Given the description of an element on the screen output the (x, y) to click on. 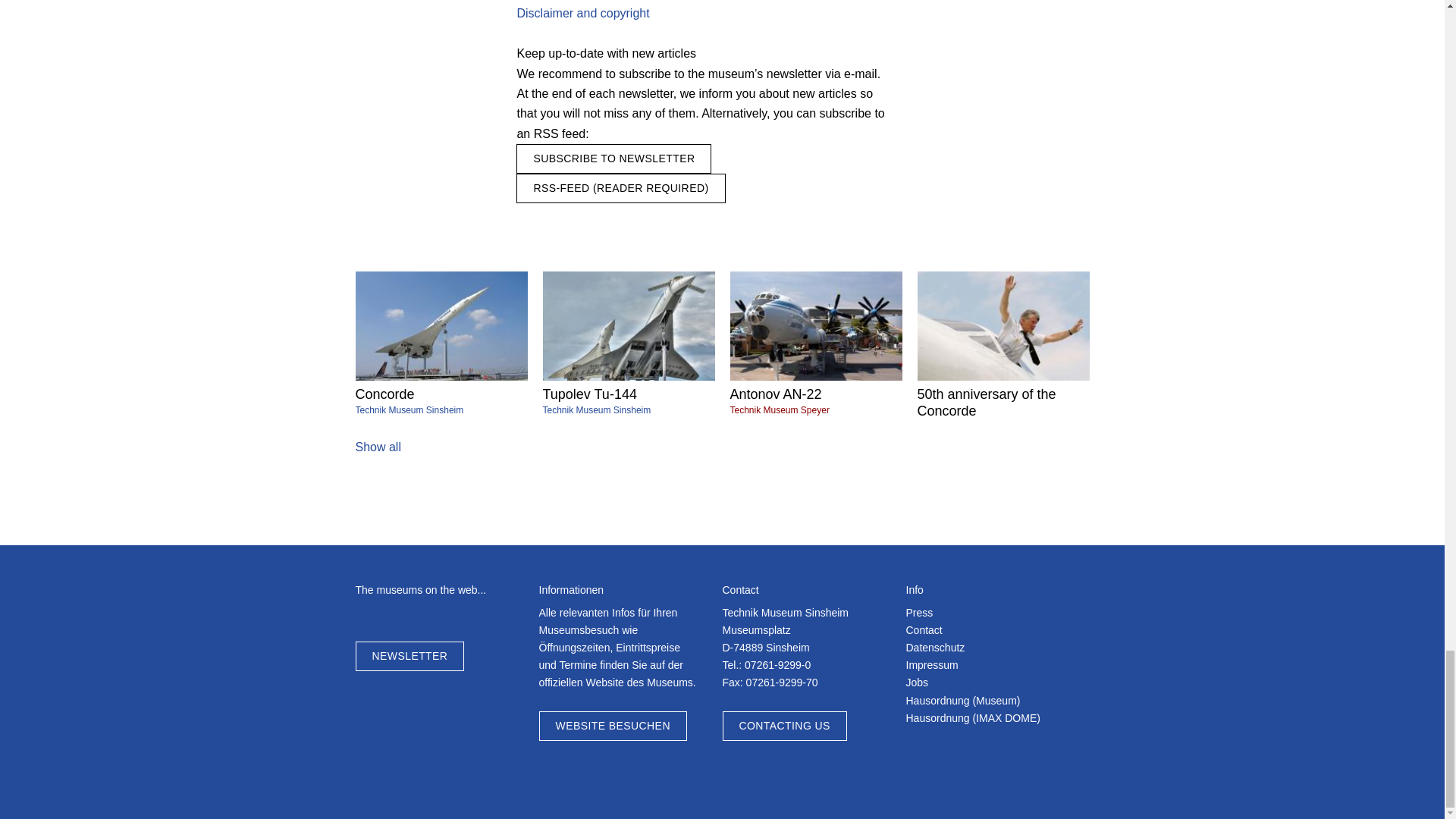
SUBSCRIBE TO NEWSLETTER (613, 158)
Show all (628, 344)
50th anniversary of the Concorde (377, 446)
Disclaimer and copyright (815, 344)
